Given the description of an element on the screen output the (x, y) to click on. 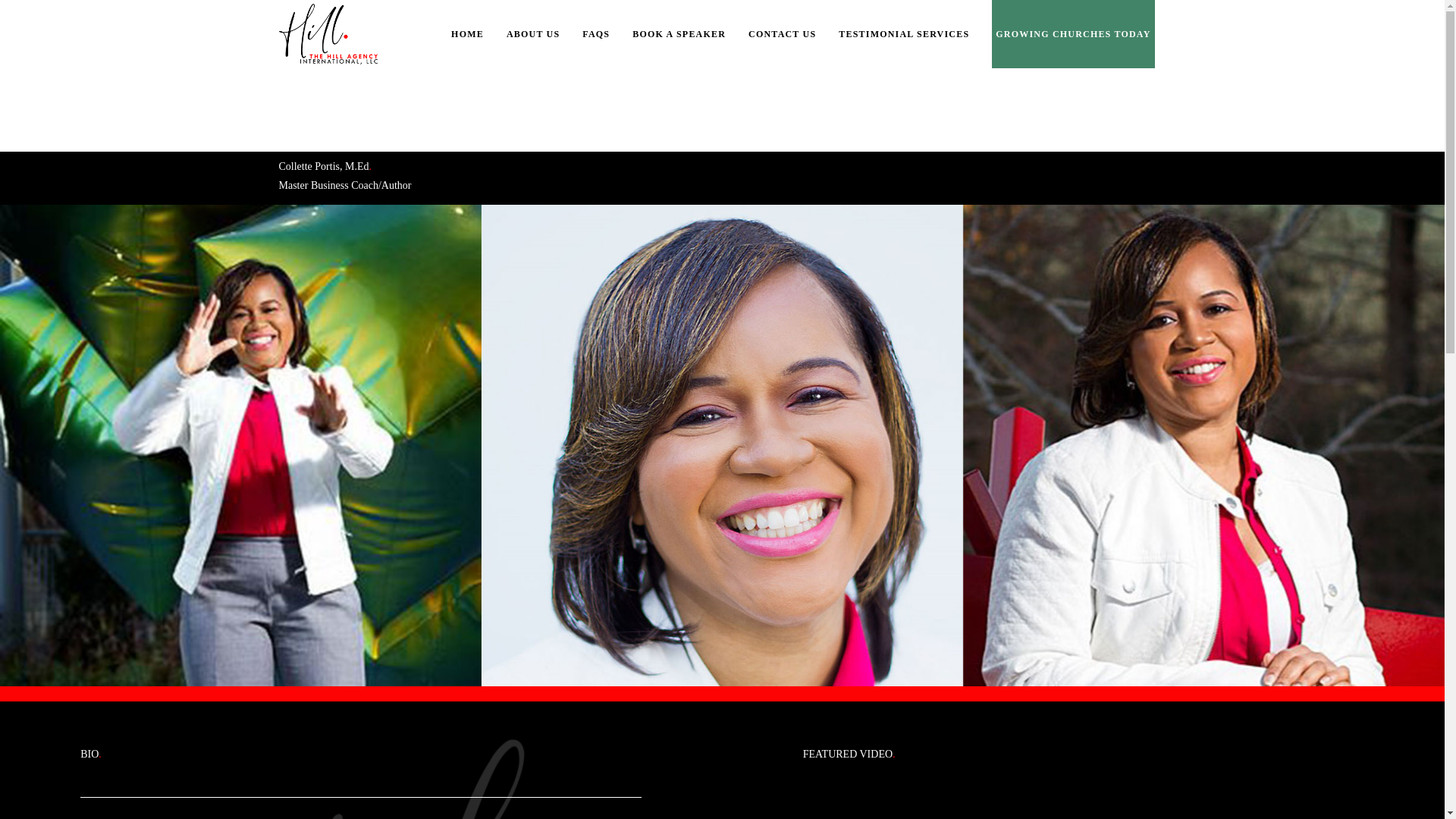
CONTACT US (781, 33)
The Hill Agency (328, 33)
BOOK A SPEAKER (678, 33)
GROWING CHURCHES TODAY (1072, 33)
TESTIMONIAL SERVICES (903, 33)
